Given the description of an element on the screen output the (x, y) to click on. 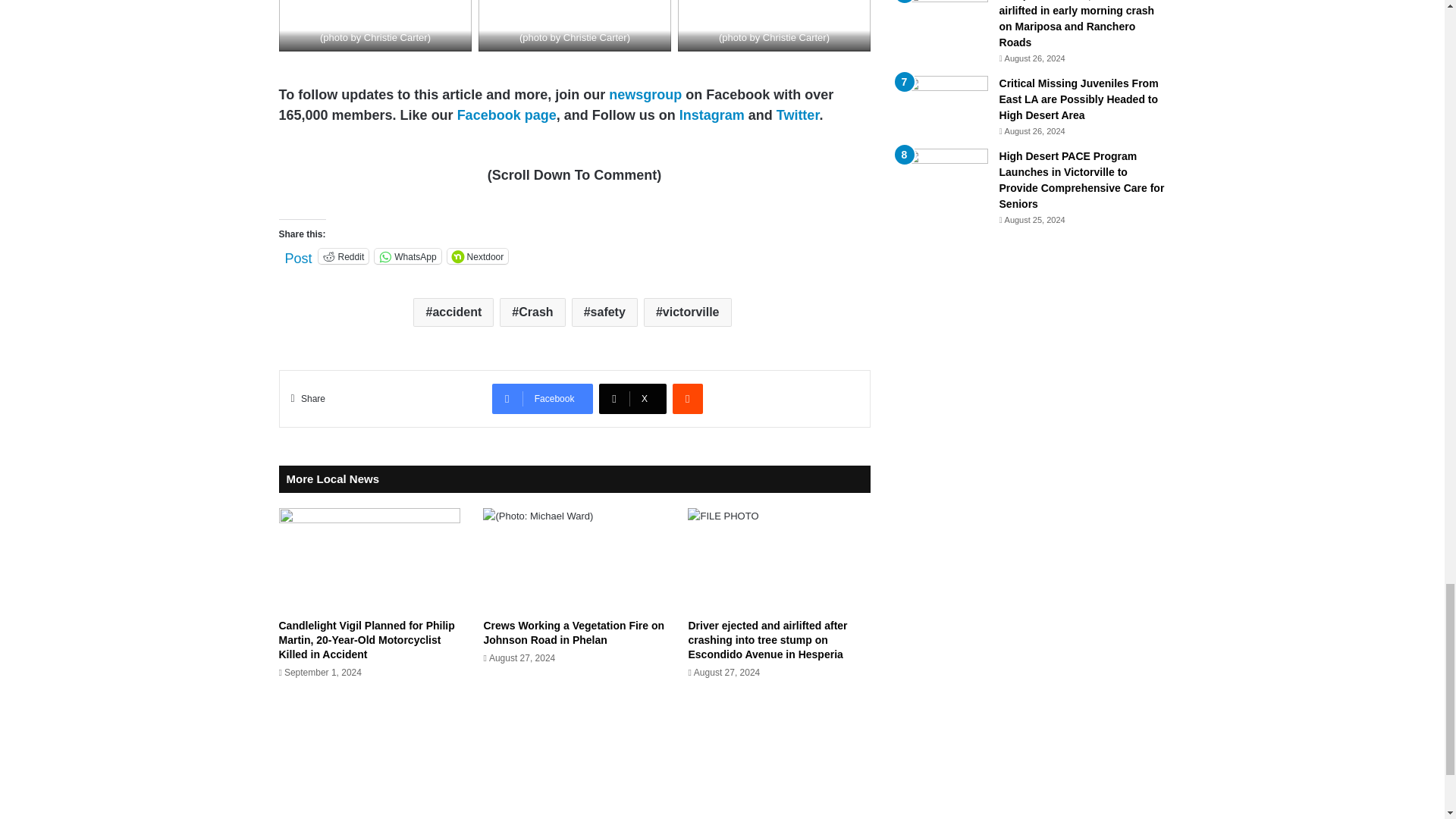
Click to share on Reddit (343, 255)
Click to share on Nextdoor (477, 255)
Click to share on WhatsApp (407, 255)
Facebook page (506, 114)
Instagram (711, 114)
Twitter (797, 114)
newsgroup (644, 94)
